Given the description of an element on the screen output the (x, y) to click on. 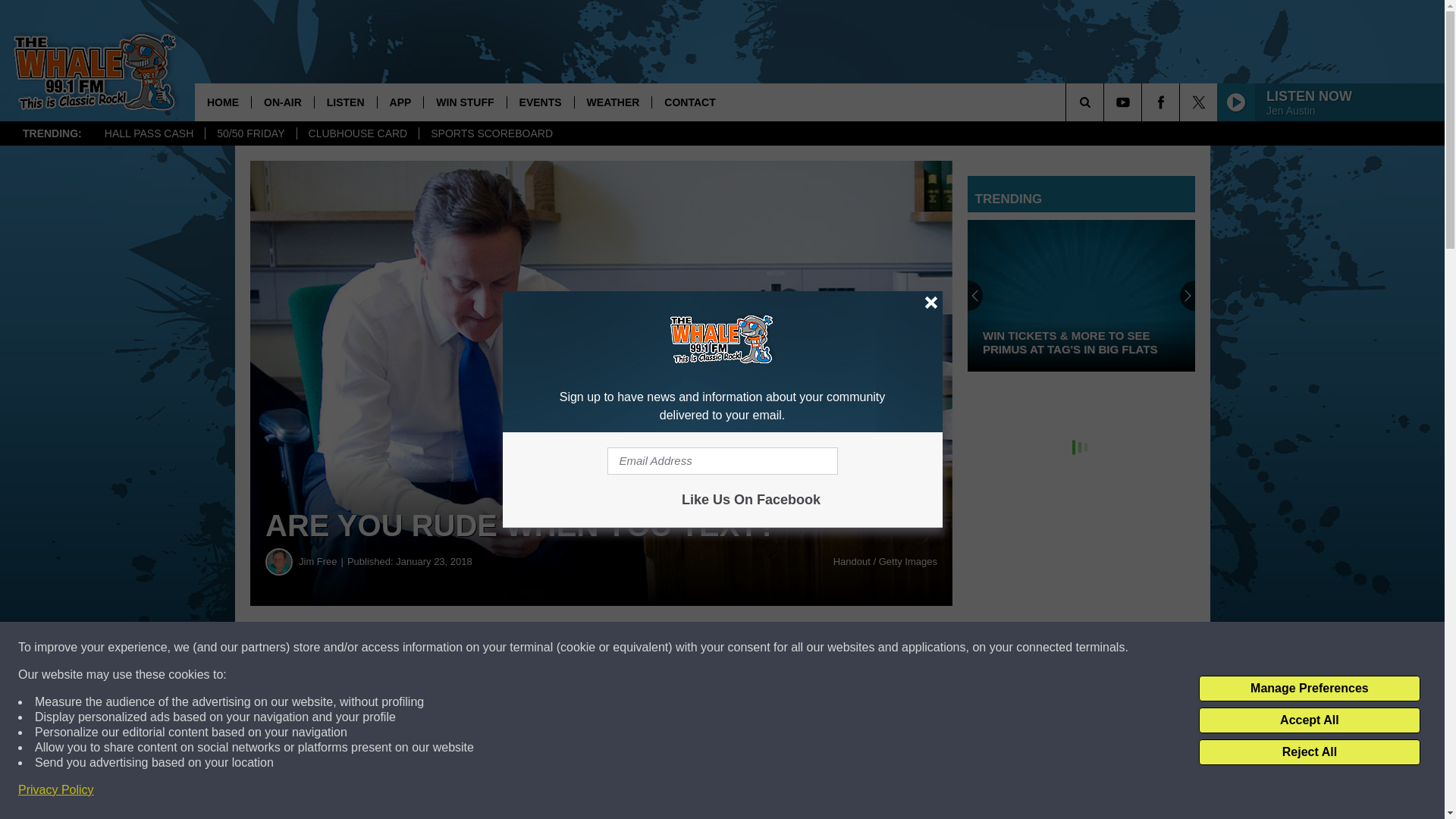
SPORTS SCOREBOARD (491, 133)
Manage Preferences (1309, 688)
Share on Twitter (741, 647)
WEATHER (612, 102)
HALL PASS CASH (149, 133)
ON-AIR (282, 102)
APP (400, 102)
WIN STUFF (464, 102)
Accept All (1309, 720)
Reject All (1309, 751)
EVENTS (539, 102)
CONTACT (688, 102)
Privacy Policy (55, 789)
LISTEN (345, 102)
Share on Facebook (460, 647)
